Given the description of an element on the screen output the (x, y) to click on. 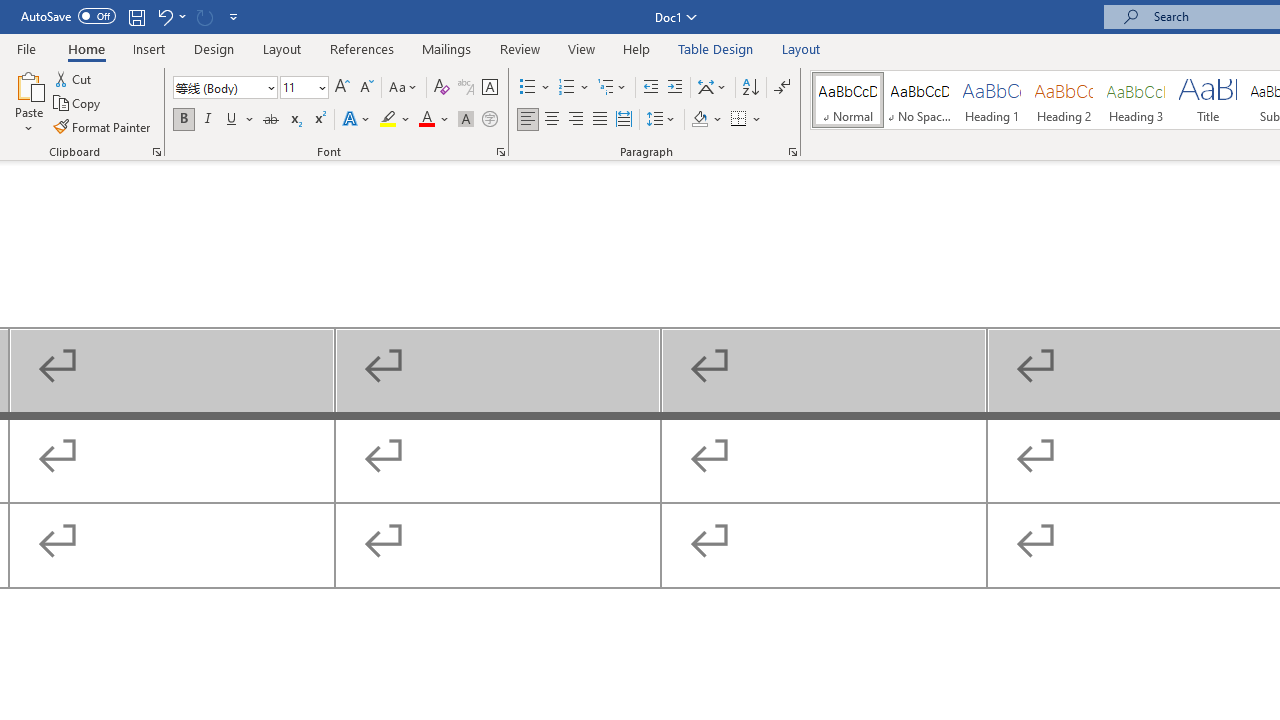
Paragraph... (792, 151)
Sort... (750, 87)
Shrink Font (365, 87)
Line and Paragraph Spacing (661, 119)
Distributed (623, 119)
Subscript (294, 119)
Italic (207, 119)
Can't Repeat (204, 15)
Show/Hide Editing Marks (781, 87)
